Given the description of an element on the screen output the (x, y) to click on. 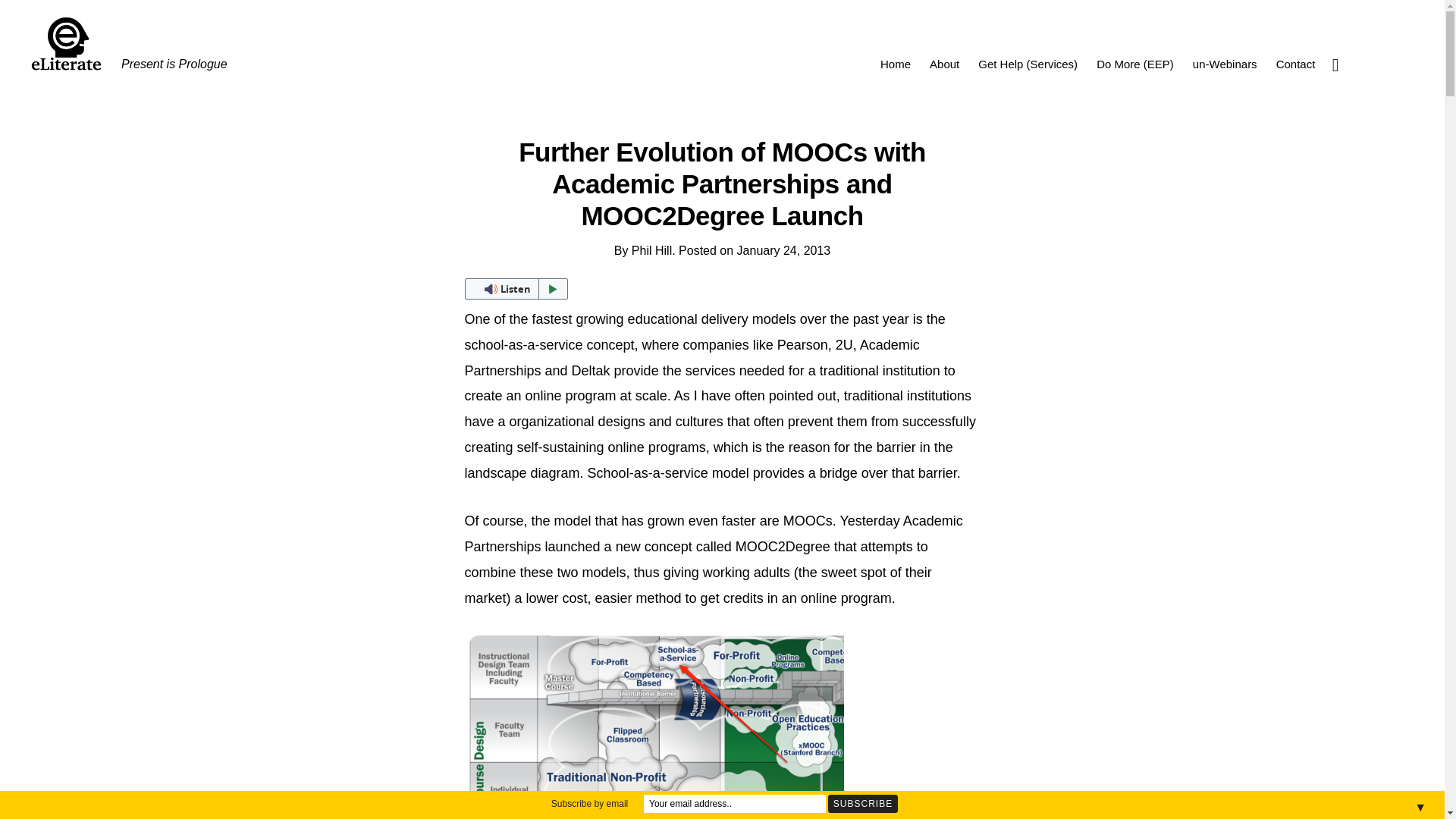
Subscribe (863, 803)
Listen to this page using ReadSpeaker (515, 288)
un-Webinars (1225, 64)
Contact (1295, 64)
Listen (515, 288)
Phil Hill (651, 250)
E-LITERATE (510, 43)
About (943, 64)
Home (895, 64)
